Given the description of an element on the screen output the (x, y) to click on. 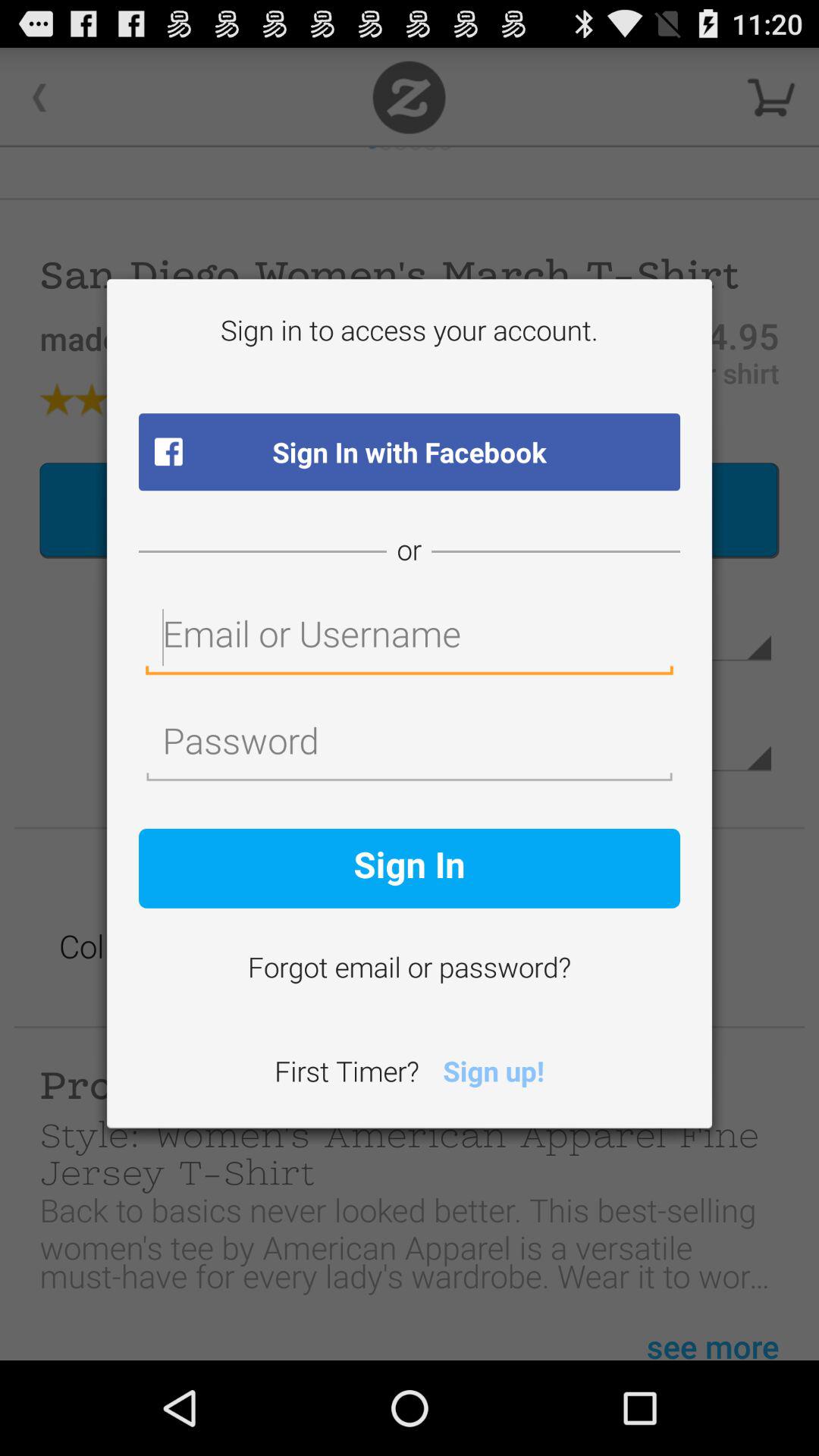
tap the icon below the sign in item (409, 970)
